Given the description of an element on the screen output the (x, y) to click on. 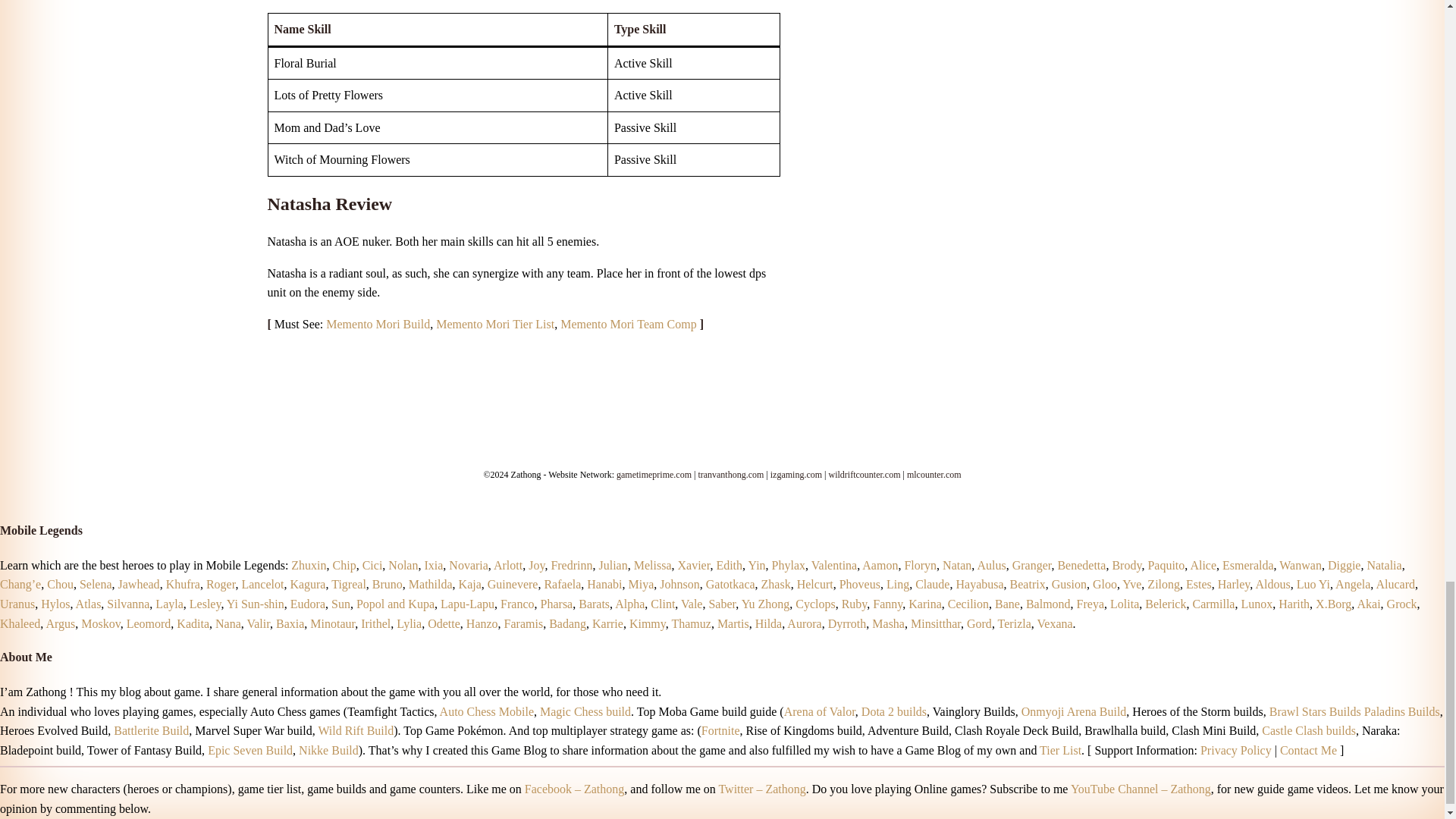
Zhuxin (308, 564)
Julian (612, 564)
Nolan (402, 564)
Cici (372, 564)
Xavier (694, 564)
Novaria (467, 564)
Memento Mori Tier List (494, 323)
Aamon (879, 564)
tranvanthong.com (729, 474)
Valentina (833, 564)
